Given the description of an element on the screen output the (x, y) to click on. 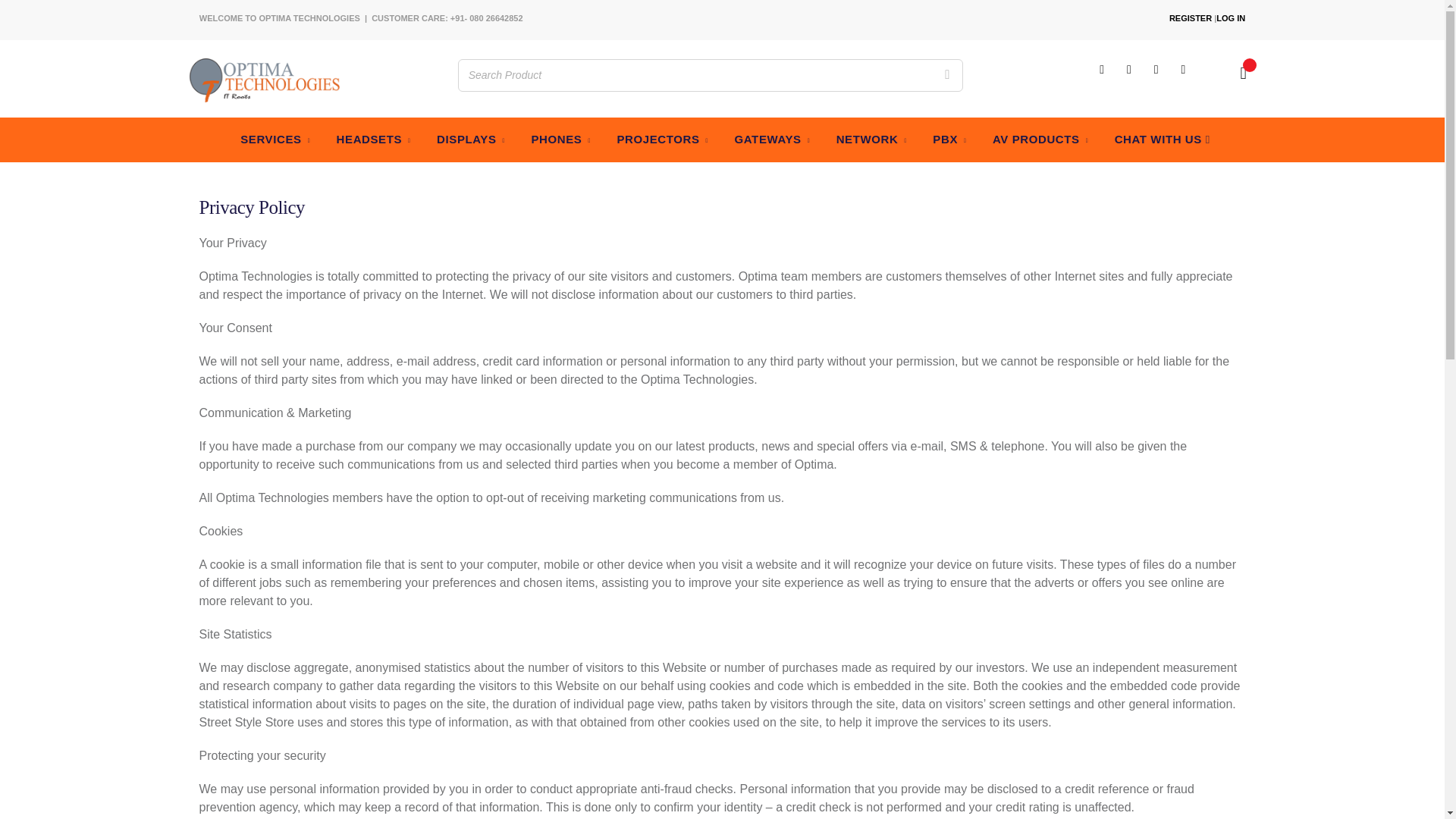
REGISTER (1190, 17)
PHONES (561, 138)
DISPLAYS (470, 138)
LOG IN (1229, 17)
HEADSETS (373, 138)
SERVICES (275, 138)
